Given the description of an element on the screen output the (x, y) to click on. 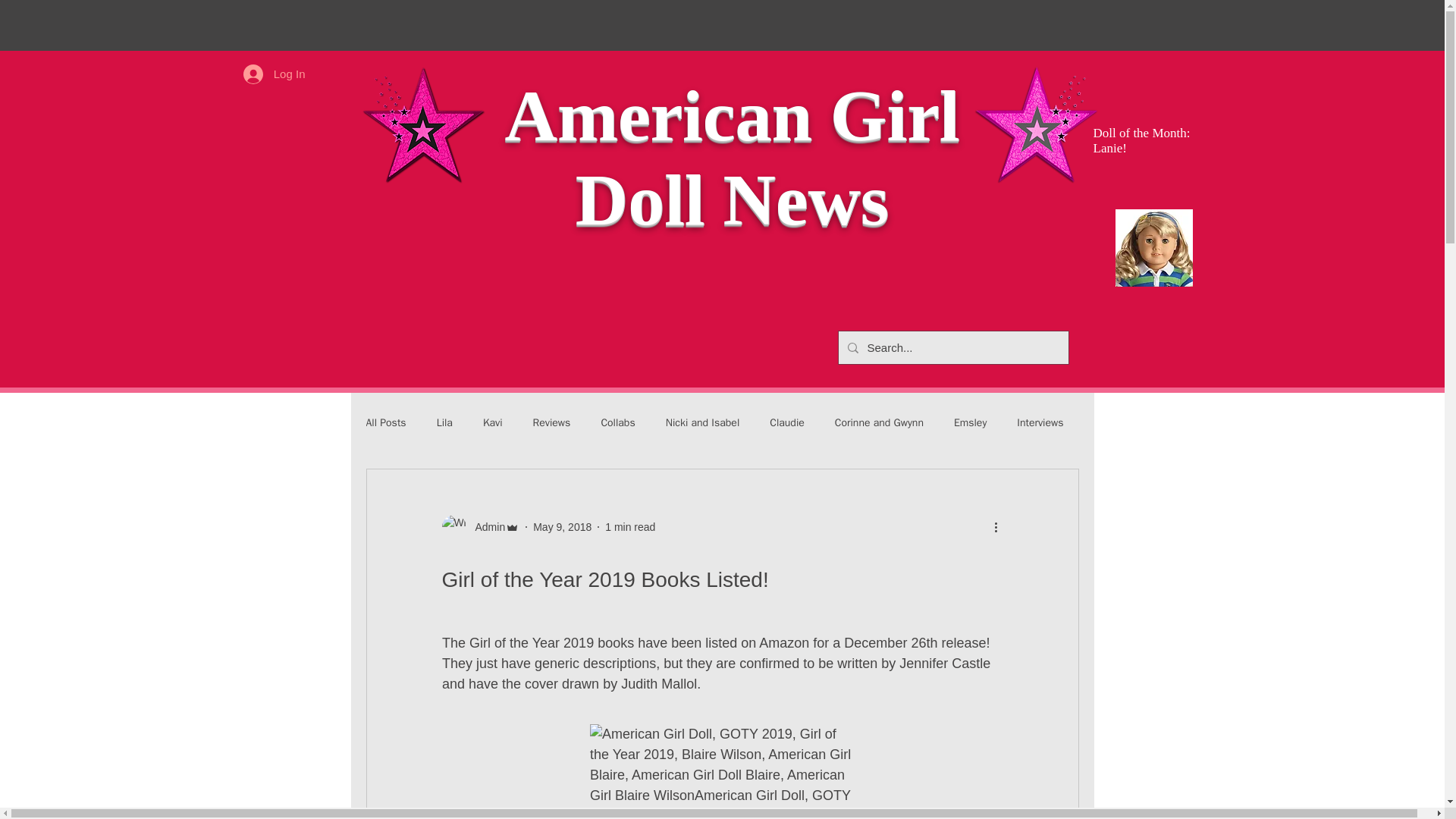
Kavi (492, 422)
Admin (485, 526)
Log In (273, 72)
Claudie (787, 422)
Emsley (970, 422)
star.png (422, 127)
All Posts (385, 422)
Lila (444, 422)
Reviews (551, 422)
Nicki and Isabel (702, 422)
Collabs (616, 422)
Corinne and Gwynn (878, 422)
1 min read (630, 526)
May 9, 2018 (561, 526)
Interviews (1039, 422)
